Given the description of an element on the screen output the (x, y) to click on. 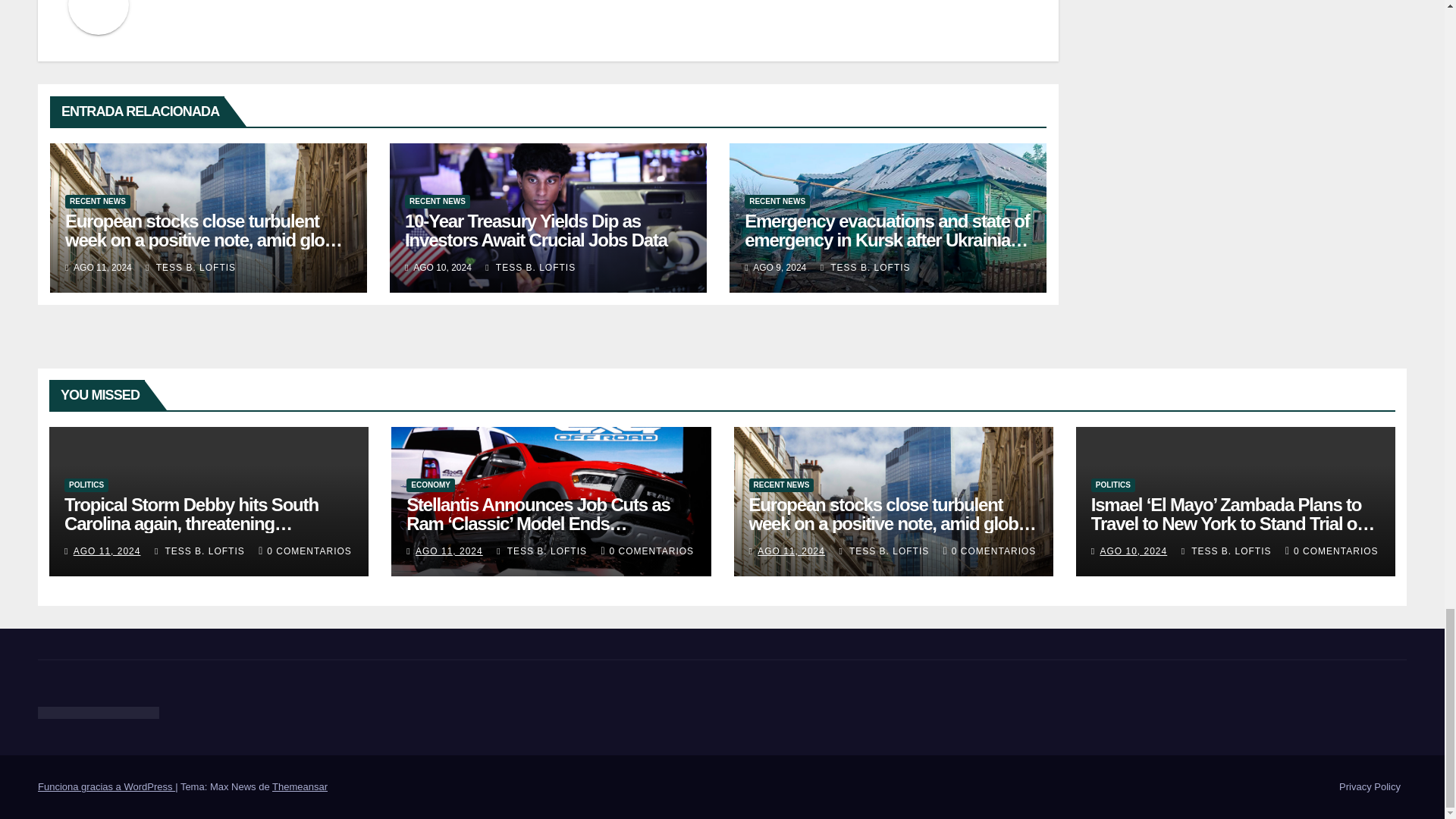
Privacy Policy (1369, 786)
RECENT NEWS (98, 201)
